Given the description of an element on the screen output the (x, y) to click on. 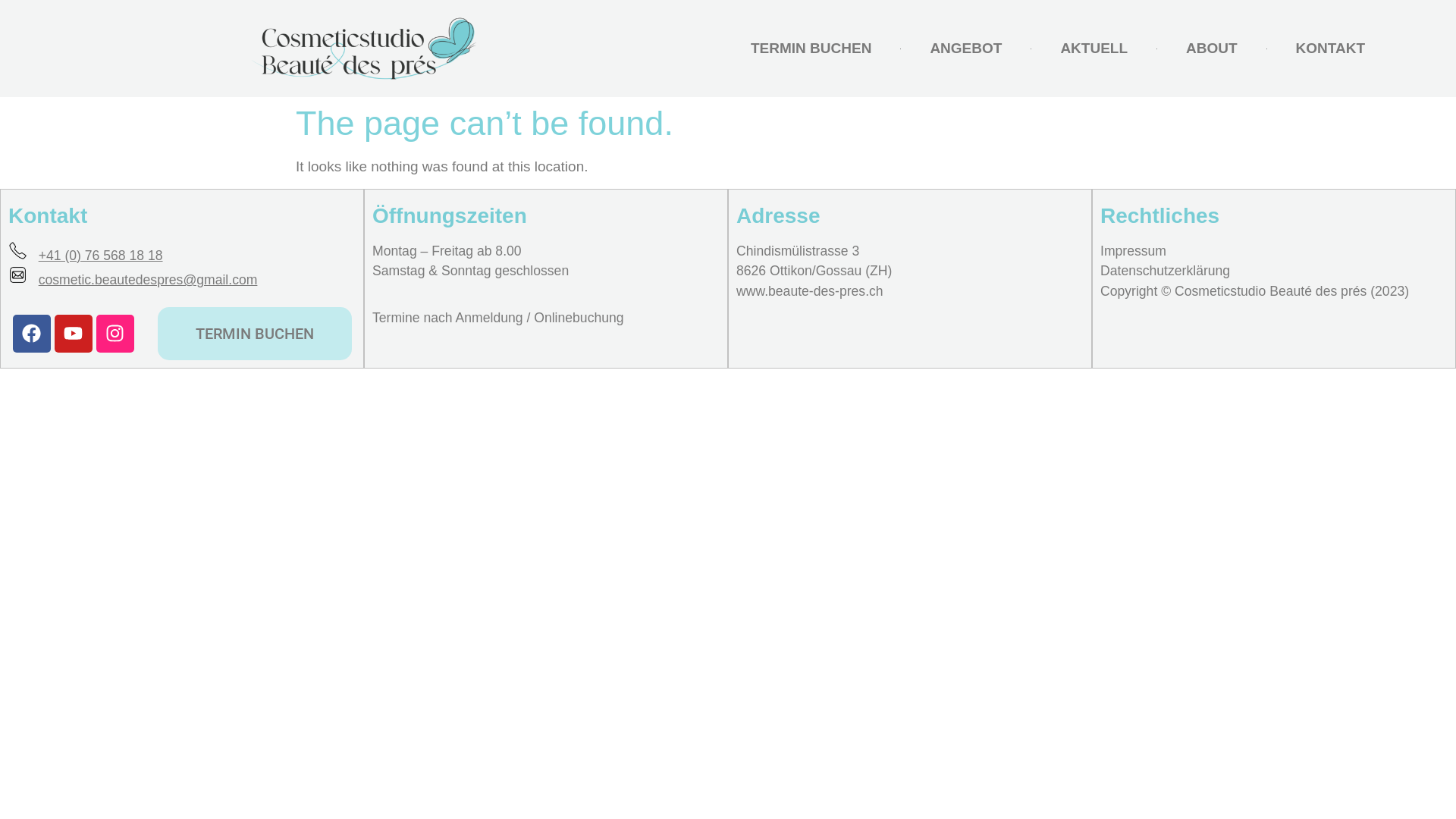
TERMIN BUCHEN Element type: text (254, 333)
TERMIN BUCHEN Element type: text (810, 48)
   Element type: text (30, 255)
+41 (0) 76 568 18 18 Element type: text (100, 255)
   Element type: text (30, 279)
KONTAKT Element type: text (1330, 48)
ABOUT Element type: text (1211, 48)
ANGEBOT Element type: text (965, 48)
cosmetic.beautedespres@gmail.com Element type: text (147, 279)
Impressum Element type: text (1133, 250)
AKTUELL Element type: text (1093, 48)
